Given the description of an element on the screen output the (x, y) to click on. 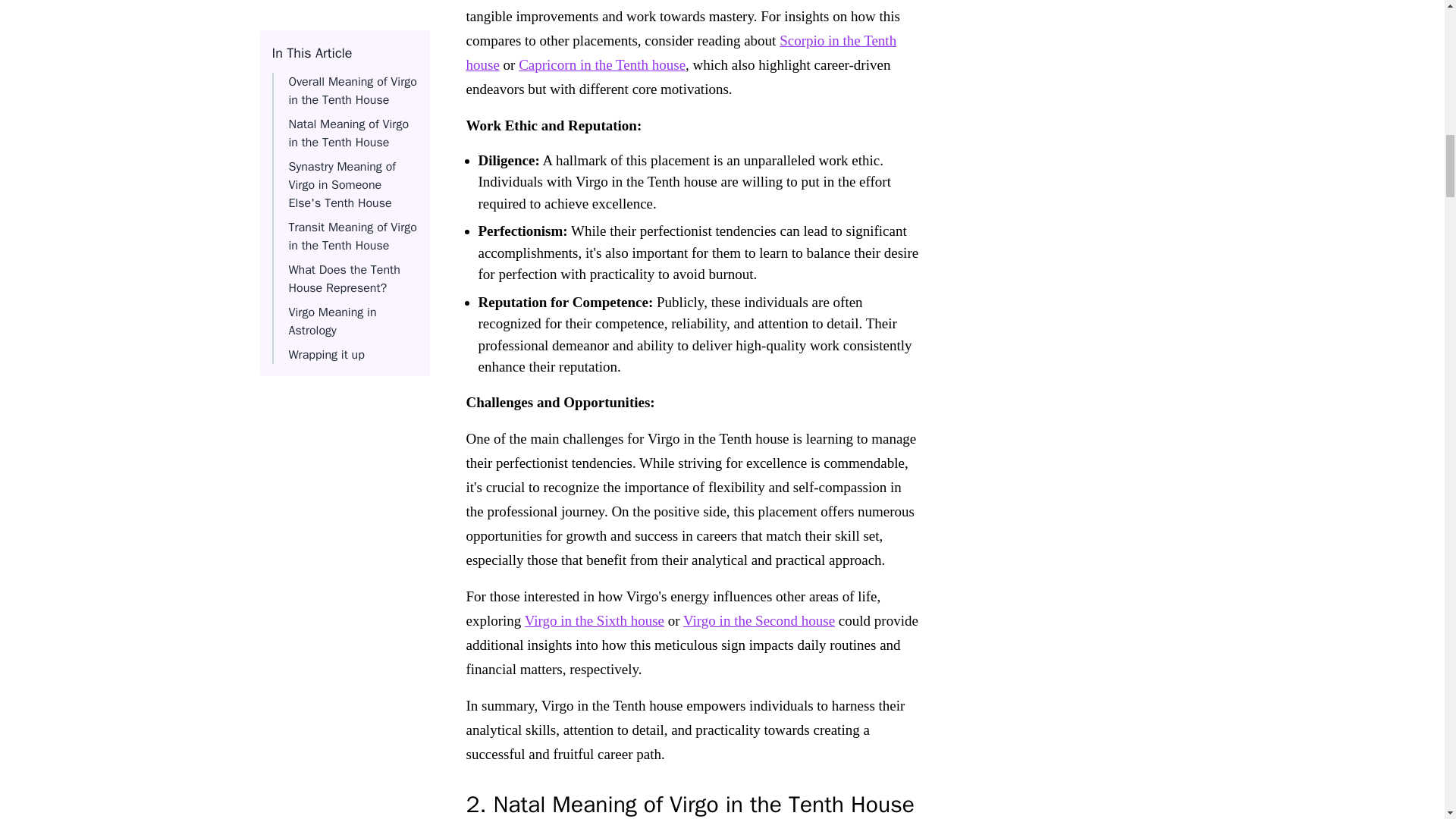
Virgo in the Second house (758, 620)
Capricorn in the Tenth house (601, 64)
Virgo in the Sixth house (593, 620)
Scorpio in the Tenth house (680, 51)
